Given the description of an element on the screen output the (x, y) to click on. 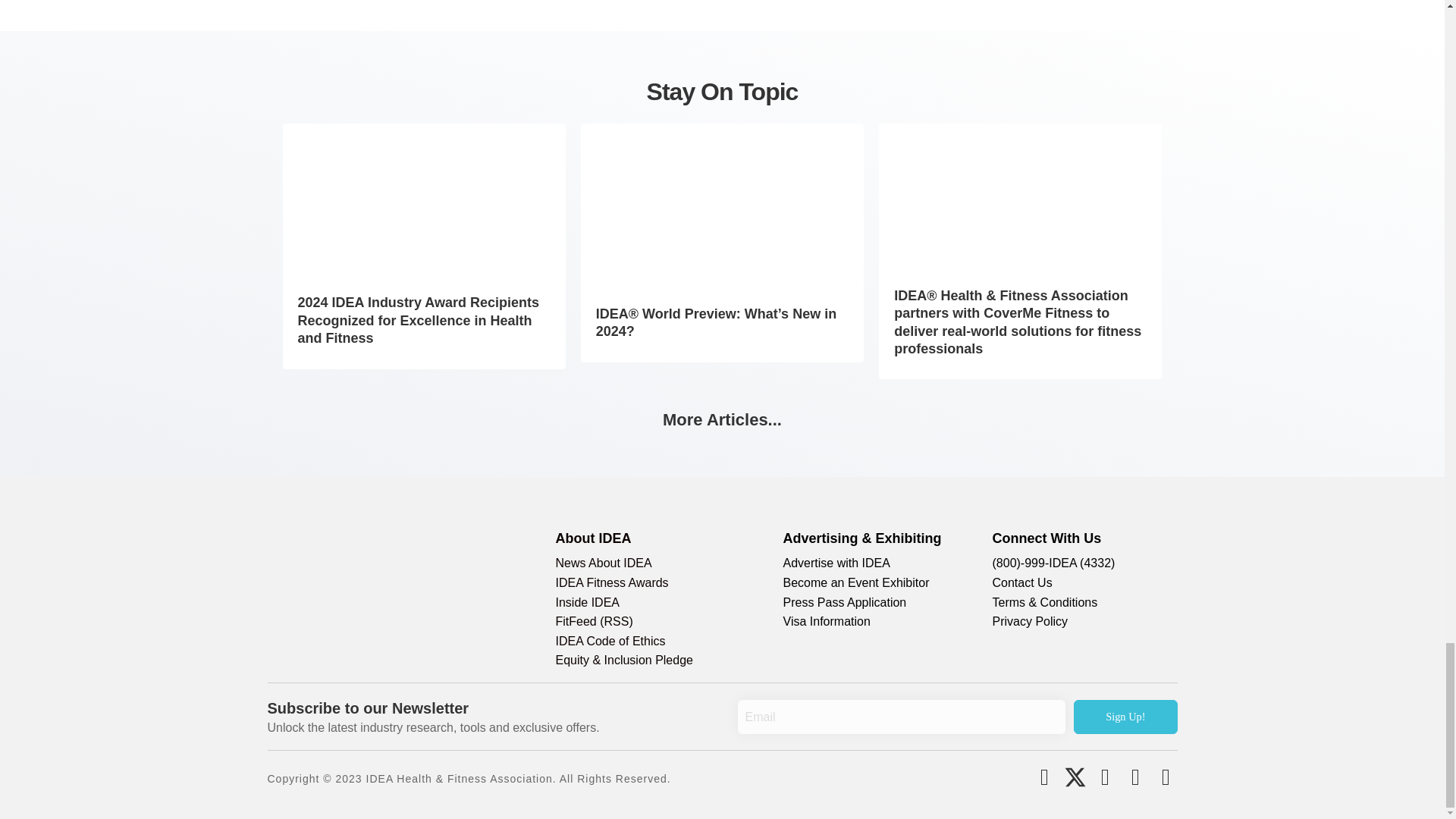
Sign Up! (1125, 716)
